Given the description of an element on the screen output the (x, y) to click on. 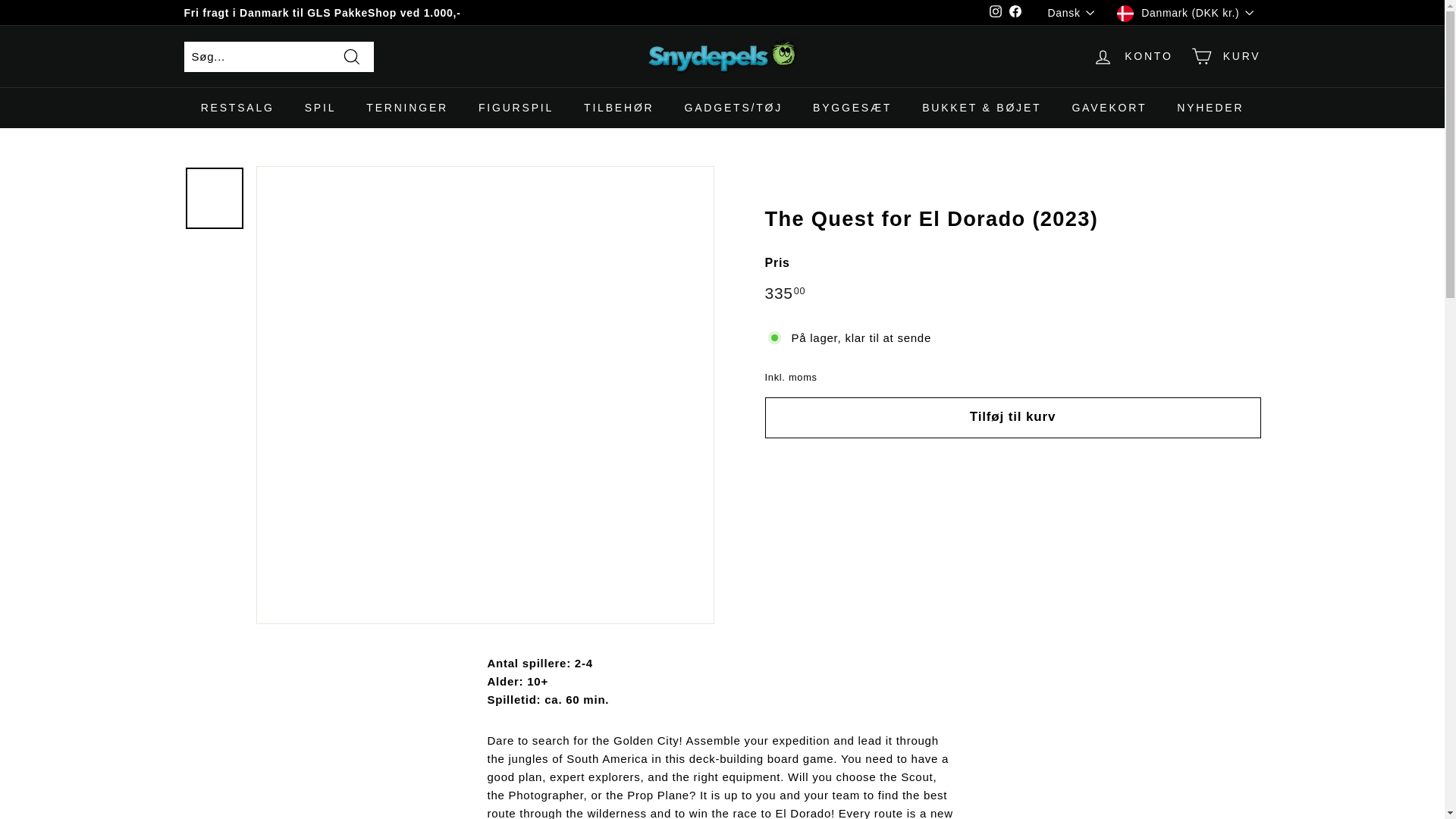
Dansk (1075, 12)
